Given the description of an element on the screen output the (x, y) to click on. 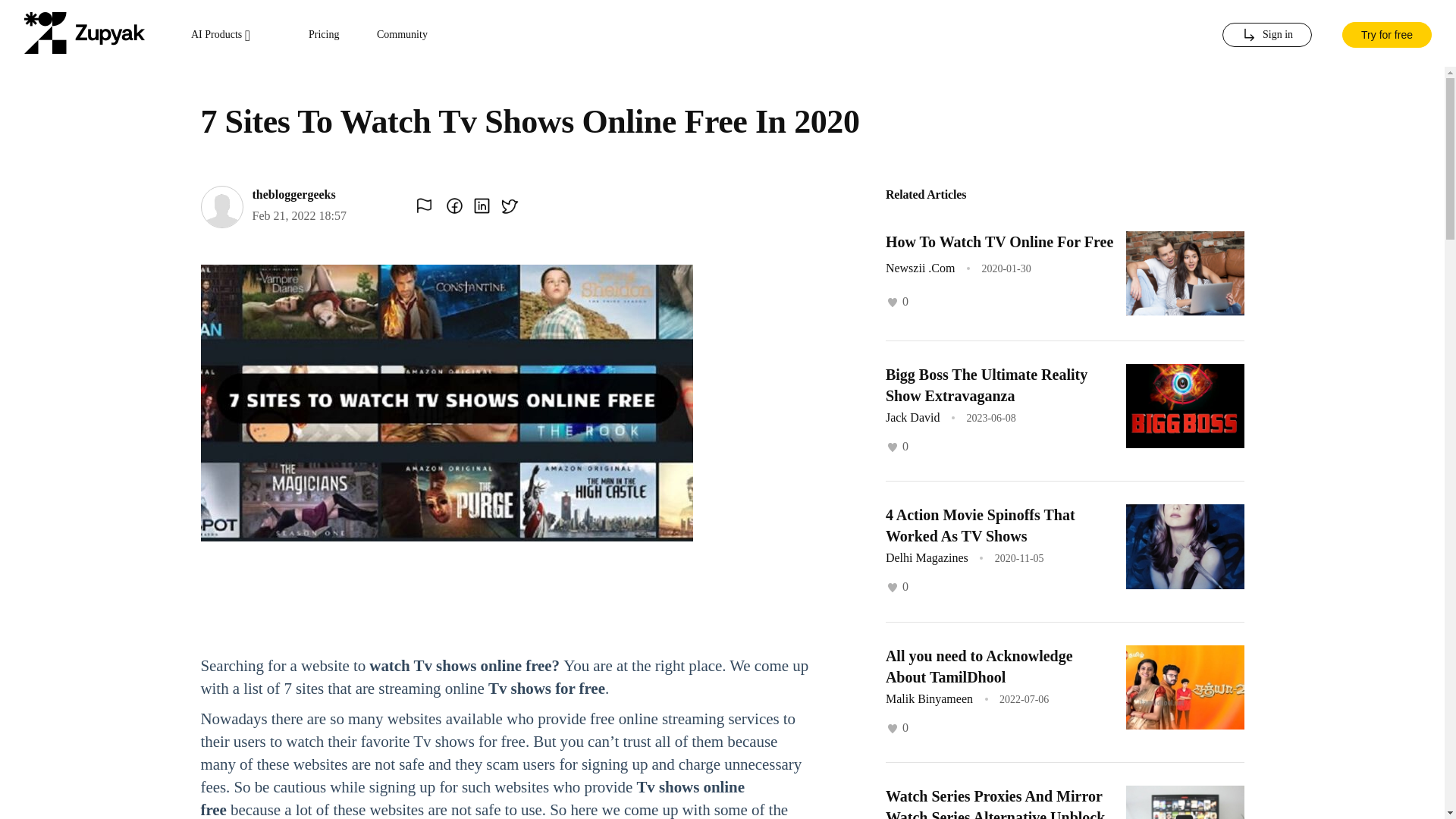
All you need to Acknowledge About TamilDhool (979, 666)
Community (402, 34)
How To Watch TV Online For Free (999, 241)
Try for free (1386, 33)
Bigg Boss The Ultimate Reality Show Extravaganza (986, 385)
Bigg Boss The Ultimate Reality Show Extravaganza (986, 385)
Pricing (323, 34)
 Sign in (1267, 34)
How To Watch TV Online For Free (999, 241)
